Given the description of an element on the screen output the (x, y) to click on. 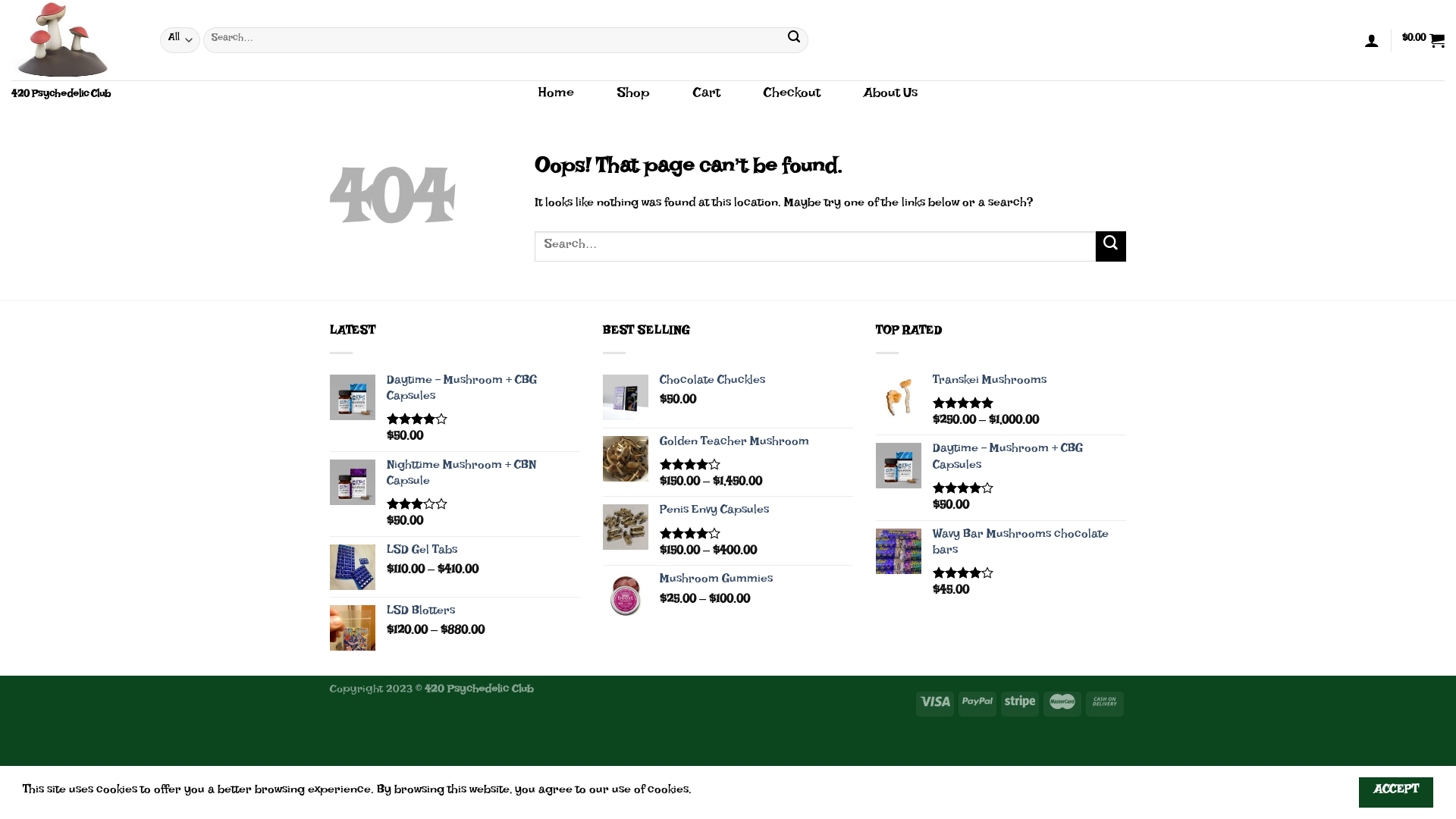
Nighttime Mushroom + CBN Capsule Element type: text (483, 475)
Chocolate Chuckles Element type: text (756, 382)
Golden Teacher Mushroom Element type: text (756, 443)
Shop Element type: text (633, 95)
Daytime - Mushroom + CBG Capsules Element type: text (1029, 458)
LSD Blotters Element type: text (483, 613)
Search Element type: text (794, 40)
Cart Element type: text (706, 95)
Home Element type: text (556, 95)
About Us Element type: text (889, 95)
Checkout Element type: text (791, 95)
Penis Envy Capsules Element type: text (756, 512)
ACCEPT Element type: text (1395, 792)
Mushroom Gummies Element type: text (756, 581)
Wavy Bar Mushrooms chocolate bars Element type: text (1029, 544)
Transkei Mushrooms Element type: text (1029, 382)
LSD Gel Tabs Element type: text (483, 552)
$0.00 Element type: text (1423, 39)
420 Psychedelic Club - Magic Mushroom Suppliers Element type: hover (74, 40)
Daytime - Mushroom + CBG Capsules Element type: text (483, 390)
